Given the description of an element on the screen output the (x, y) to click on. 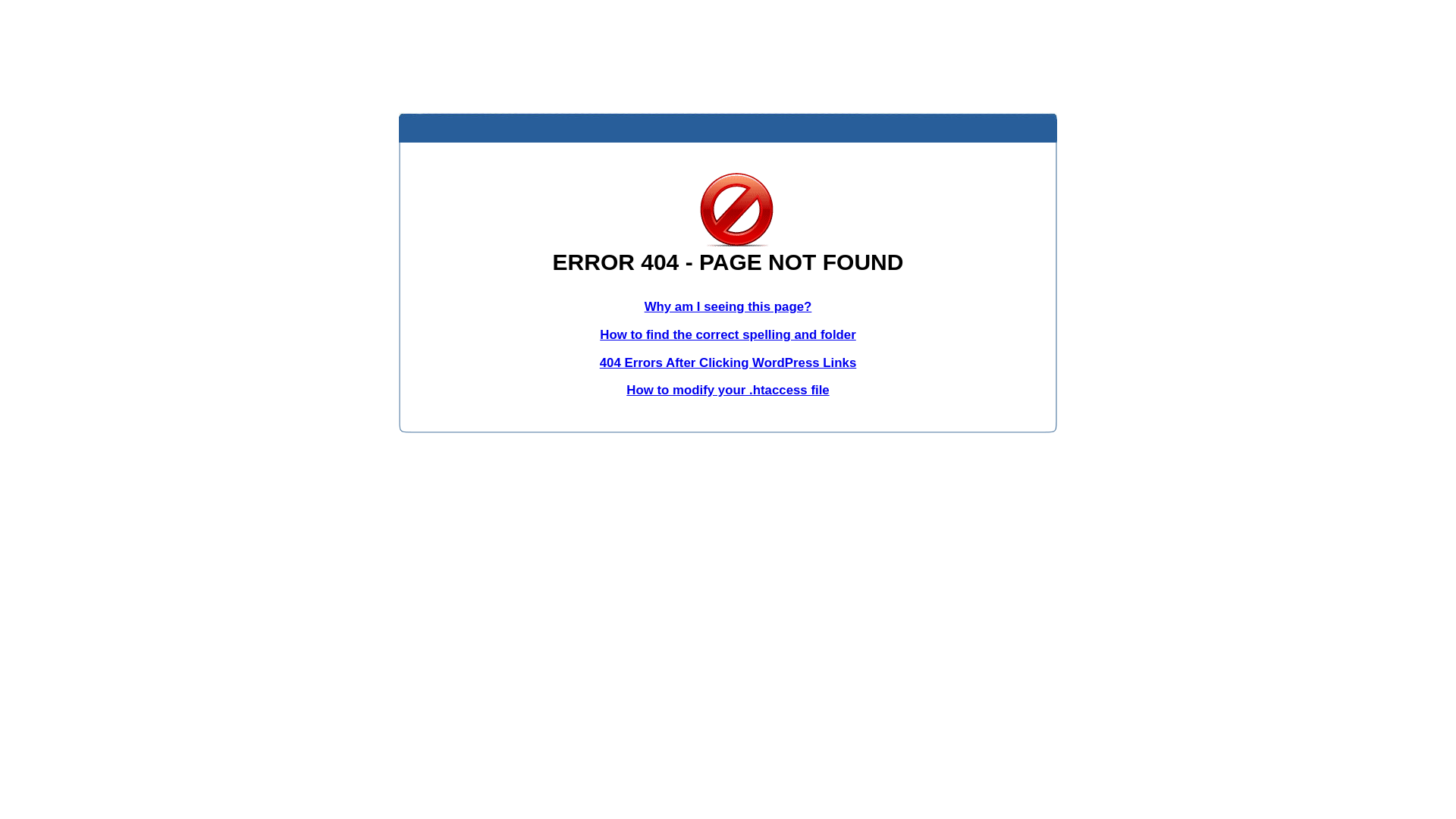
How to find the correct spelling and folder Element type: text (727, 334)
404 Errors After Clicking WordPress Links Element type: text (727, 362)
Why am I seeing this page? Element type: text (728, 306)
How to modify your .htaccess file Element type: text (727, 389)
